Given the description of an element on the screen output the (x, y) to click on. 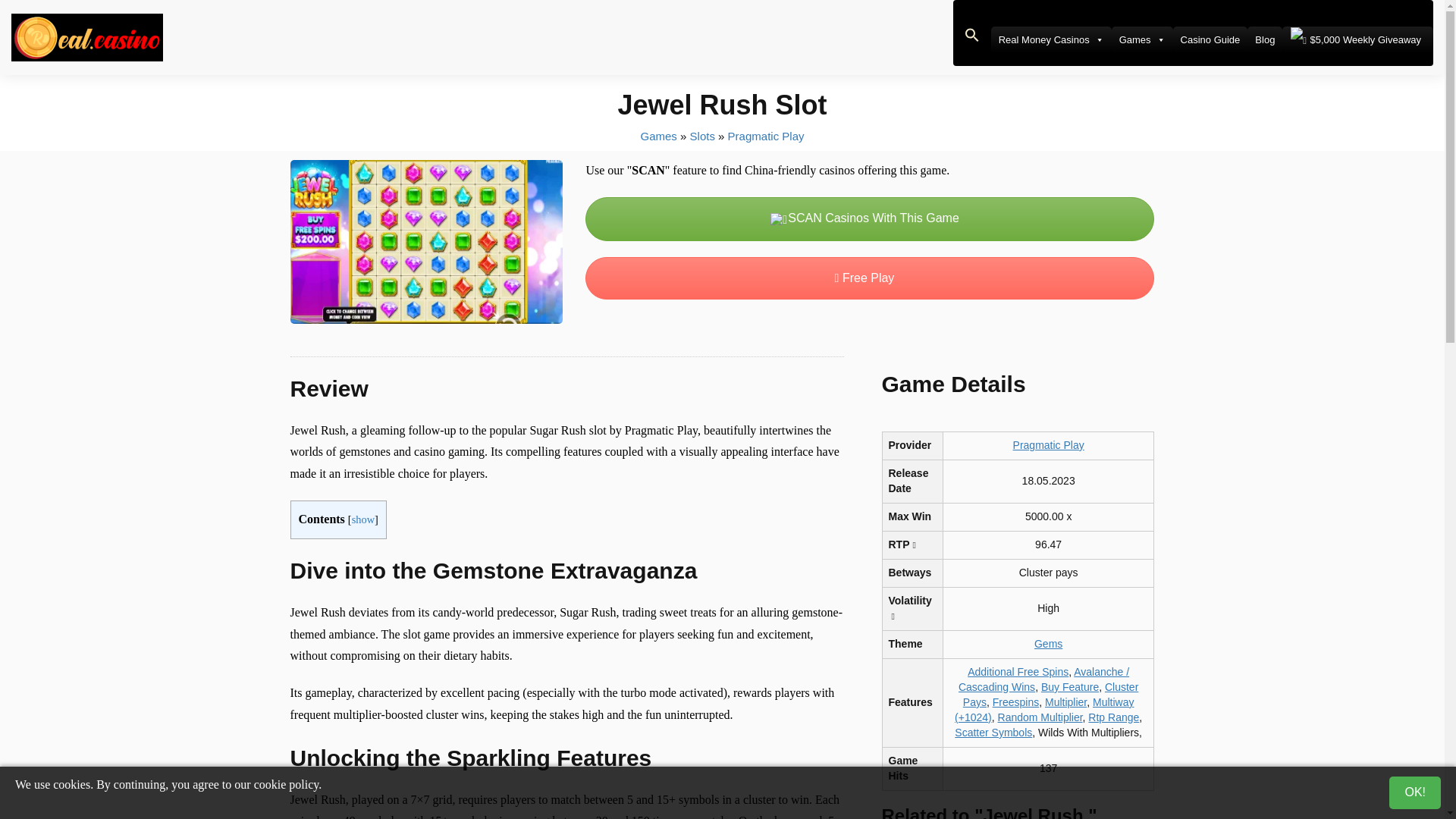
Online Casino Games (658, 135)
Online Slots (702, 135)
Real Money Casinos (1051, 39)
Games (1142, 39)
Pragmatic Play Slots (766, 135)
